Given the description of an element on the screen output the (x, y) to click on. 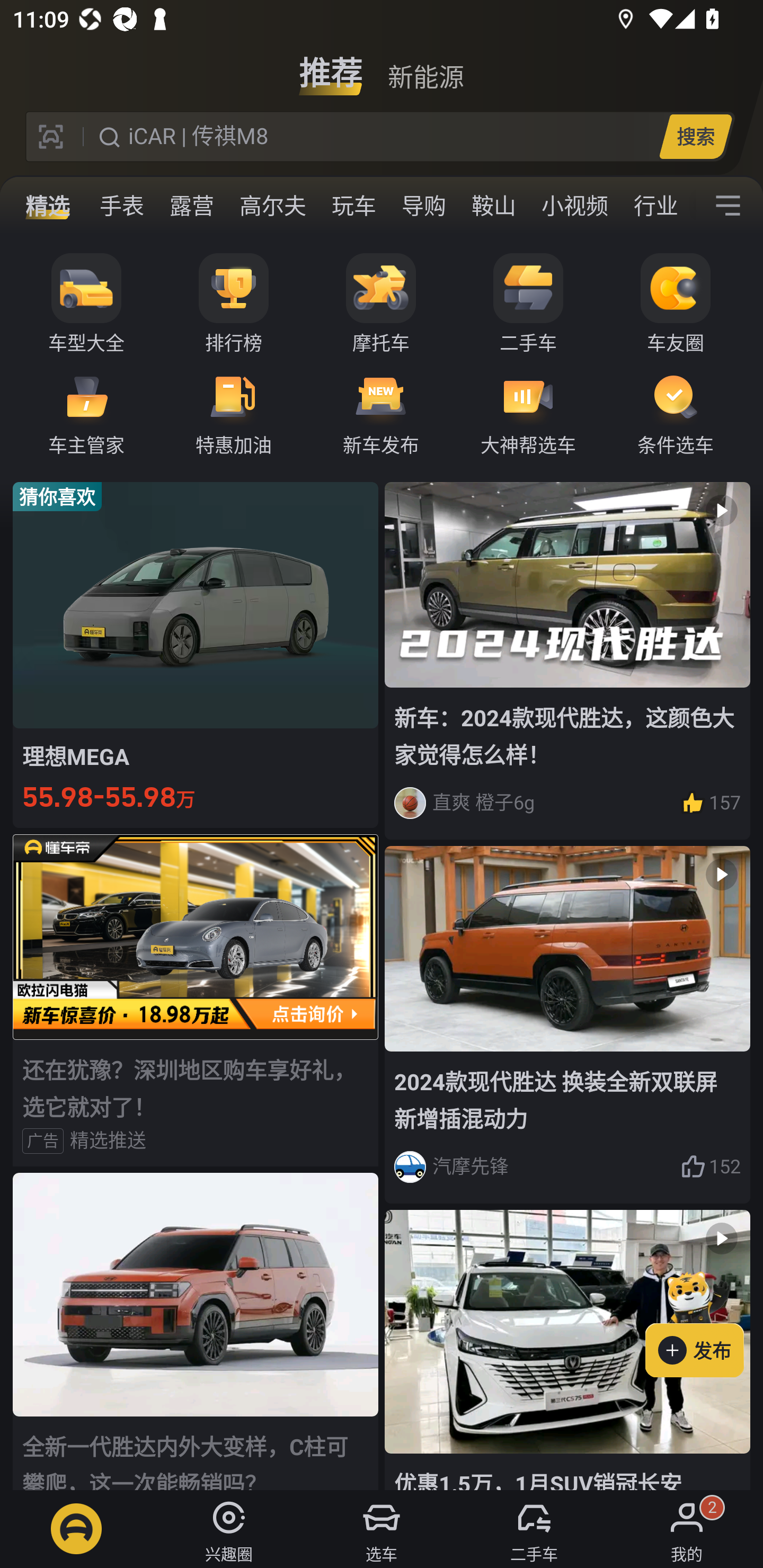
推荐 (330, 65)
新能源 (425, 65)
搜索 (695, 136)
原创 (51, 205)
手表 (121, 205)
露营 (191, 205)
高尔夫 (272, 205)
玩车 (353, 205)
导购 (423, 205)
鞍山 (493, 205)
小视频 (574, 205)
行业 (656, 205)
 (727, 205)
车型大全 (86, 303)
排行榜 (233, 303)
摩托车 (380, 303)
二手车 (528, 303)
车友圈 (675, 303)
车主管家 (86, 412)
特惠加油 (233, 412)
新车发布 (380, 412)
大神帮选车 (528, 412)
条件选车 (675, 412)
猜你喜欢 理想MEGA 55.98-55.98万 (195, 654)
 新车：2024款现代胜达，这颜色大家觉得怎么样！ 直爽 橙子6g 157 (567, 659)
157 (710, 802)
还在犹豫？深圳地区购车享好礼，选它就对了！ 广告 精选推送 (195, 1000)
 2024款现代胜达 换装全新双联屏 新增插混动力 汽摩先锋 152 (567, 1025)
152 (710, 1166)
全新一代胜达内外大变样，C柱可攀爬，这一次能畅销吗？ (195, 1330)
 优惠1.5万，1月SUV销冠长安CS75PLUS为何值得买？性价比是亮点！ (567, 1349)
发布 (704, 1320)
 兴趣圈 (228, 1528)
 选车 (381, 1528)
 二手车 (533, 1528)
 我的 (686, 1528)
